Given the description of an element on the screen output the (x, y) to click on. 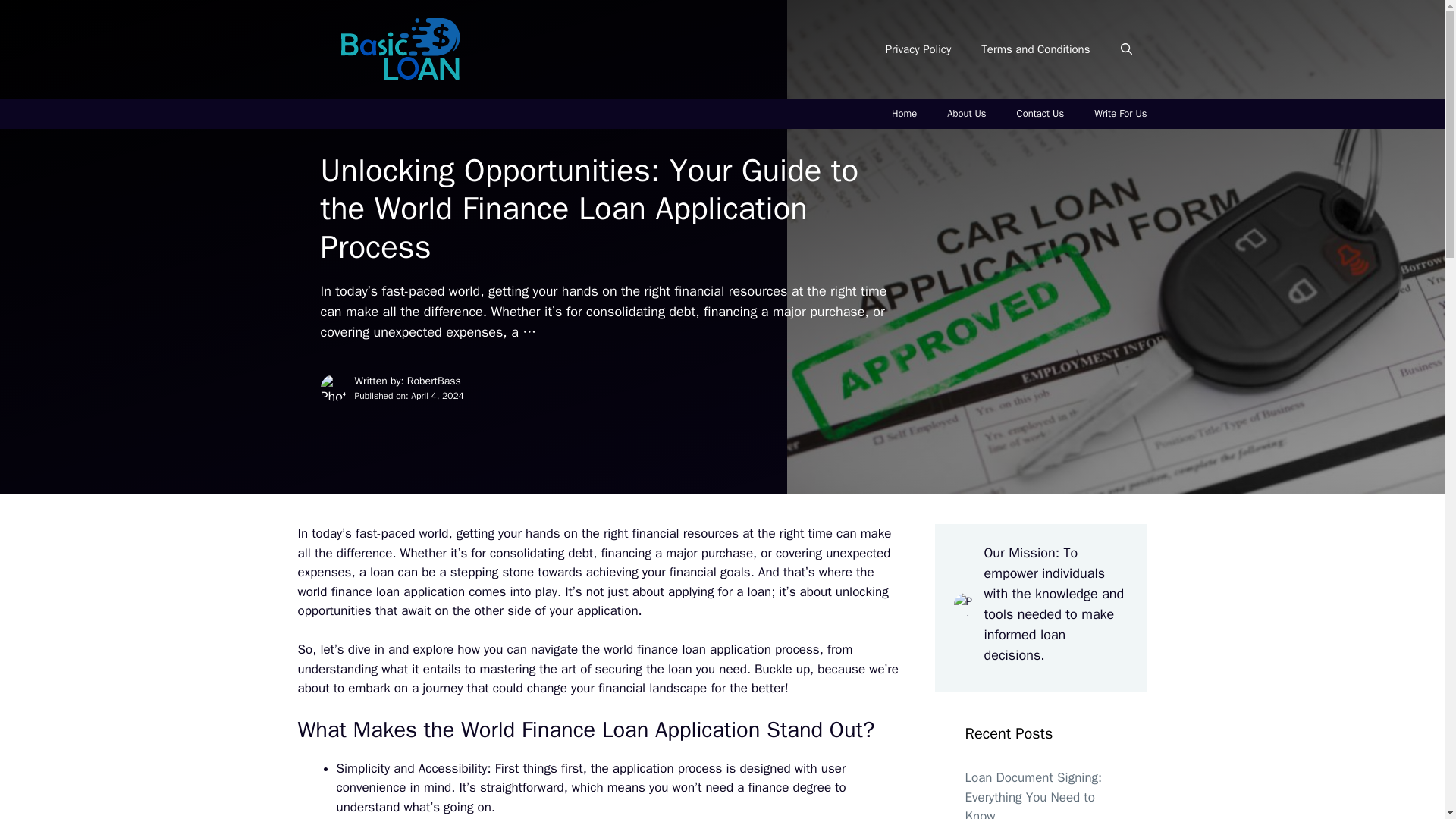
Loan Document Signing: Everything You Need to Know (1032, 794)
Write For Us (1119, 113)
Contact Us (1040, 113)
About Us (966, 113)
Terms and Conditions (1035, 49)
Home (903, 113)
Privacy Policy (918, 49)
